Given the description of an element on the screen output the (x, y) to click on. 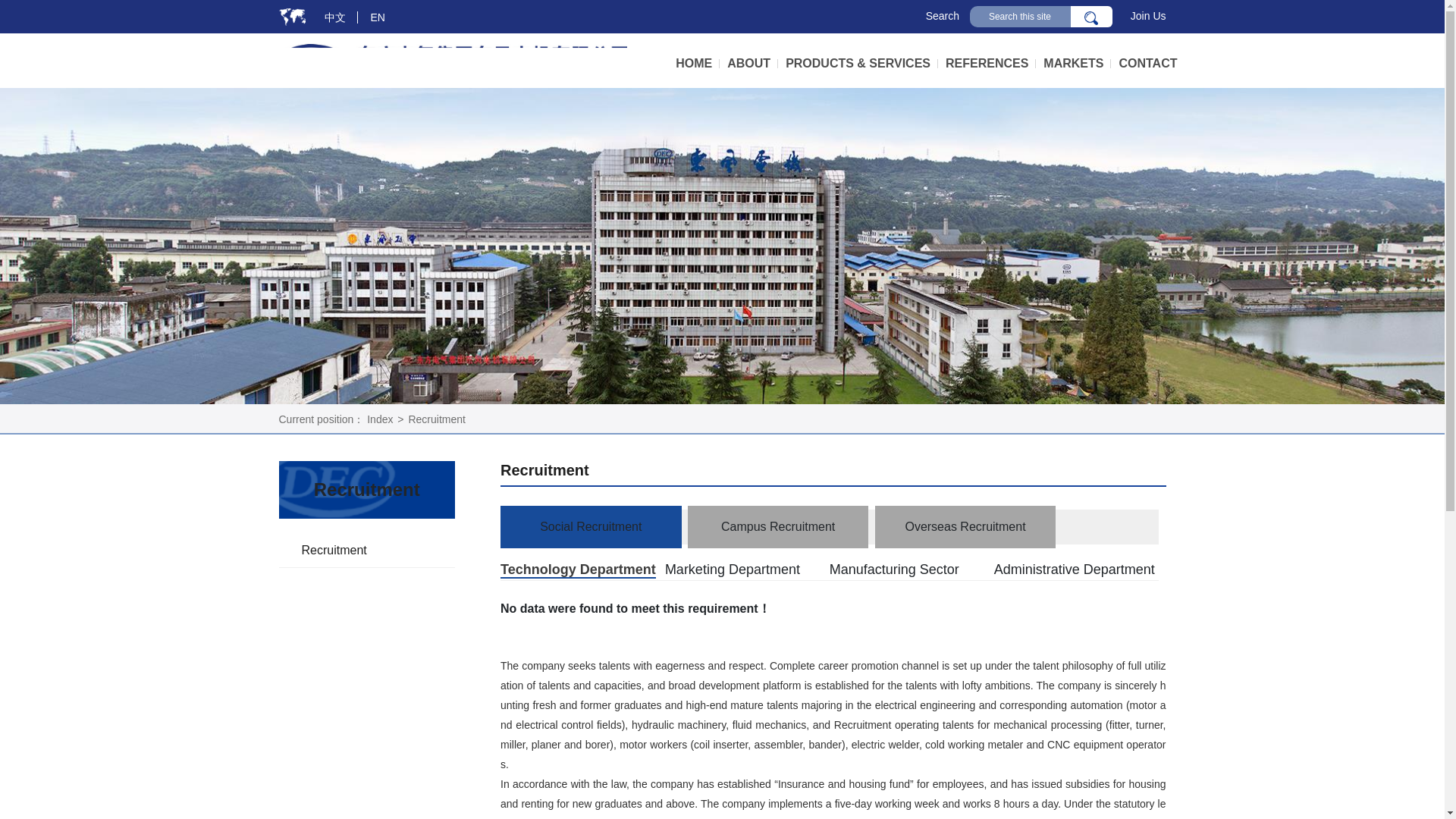
HOME (697, 63)
MARKETS (1076, 63)
Join Us (1148, 15)
CONTACT (1147, 63)
REFERENCES (989, 63)
EN (378, 16)
ABOUT (751, 63)
